Given the description of an element on the screen output the (x, y) to click on. 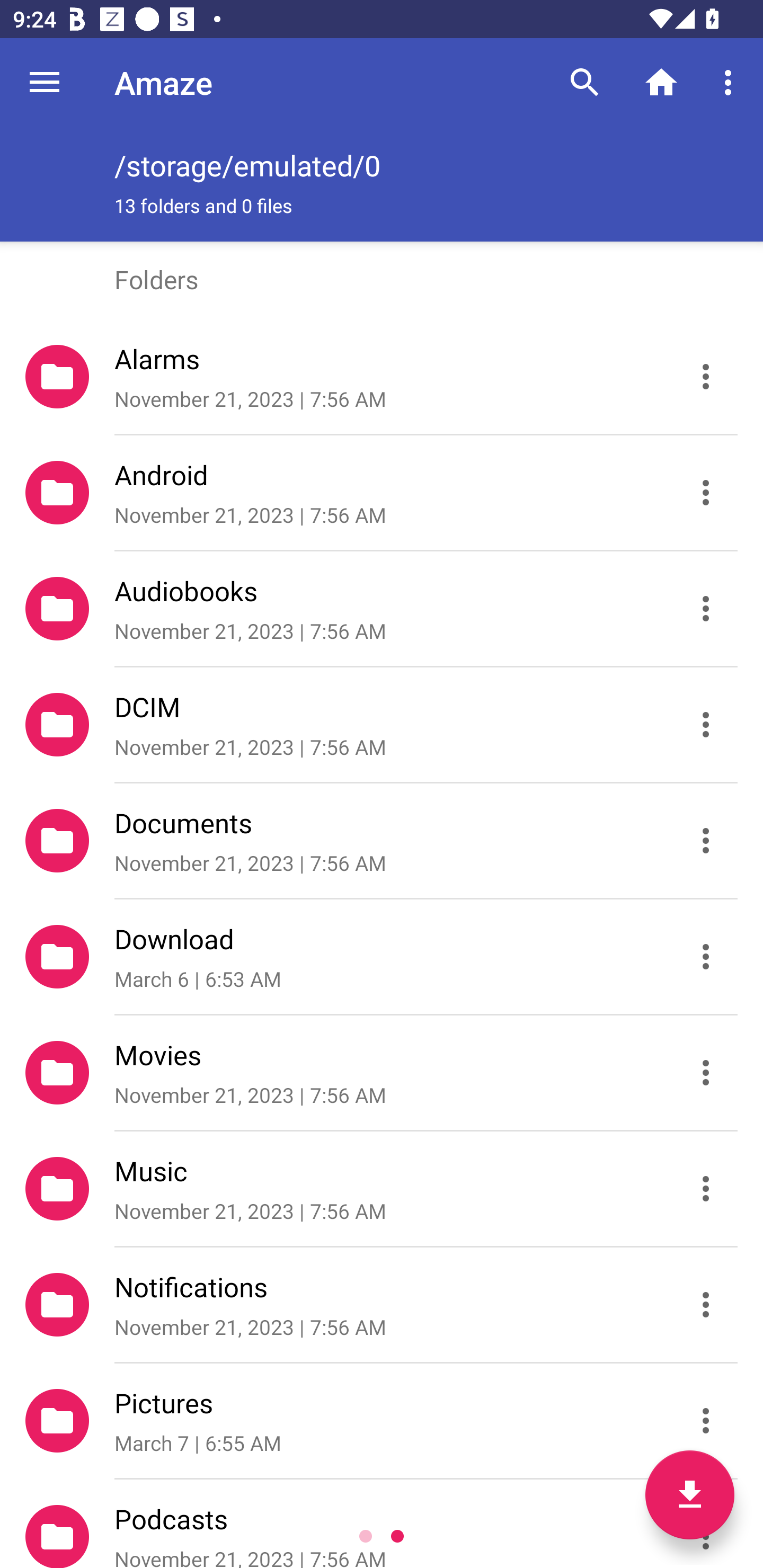
Navigate up (44, 82)
Search (585, 81)
Home (661, 81)
More options (731, 81)
Alarms November 21, 2023 | 7:56 AM (381, 376)
Android November 21, 2023 | 7:56 AM (381, 492)
Audiobooks November 21, 2023 | 7:56 AM (381, 608)
DCIM November 21, 2023 | 7:56 AM (381, 724)
Documents November 21, 2023 | 7:56 AM (381, 841)
Download March 6 | 6:53 AM (381, 957)
Movies November 21, 2023 | 7:56 AM (381, 1073)
Music November 21, 2023 | 7:56 AM (381, 1189)
Notifications November 21, 2023 | 7:56 AM (381, 1305)
Pictures March 7 | 6:55 AM (381, 1421)
Podcasts November 21, 2023 | 7:56 AM (381, 1524)
